Given the description of an element on the screen output the (x, y) to click on. 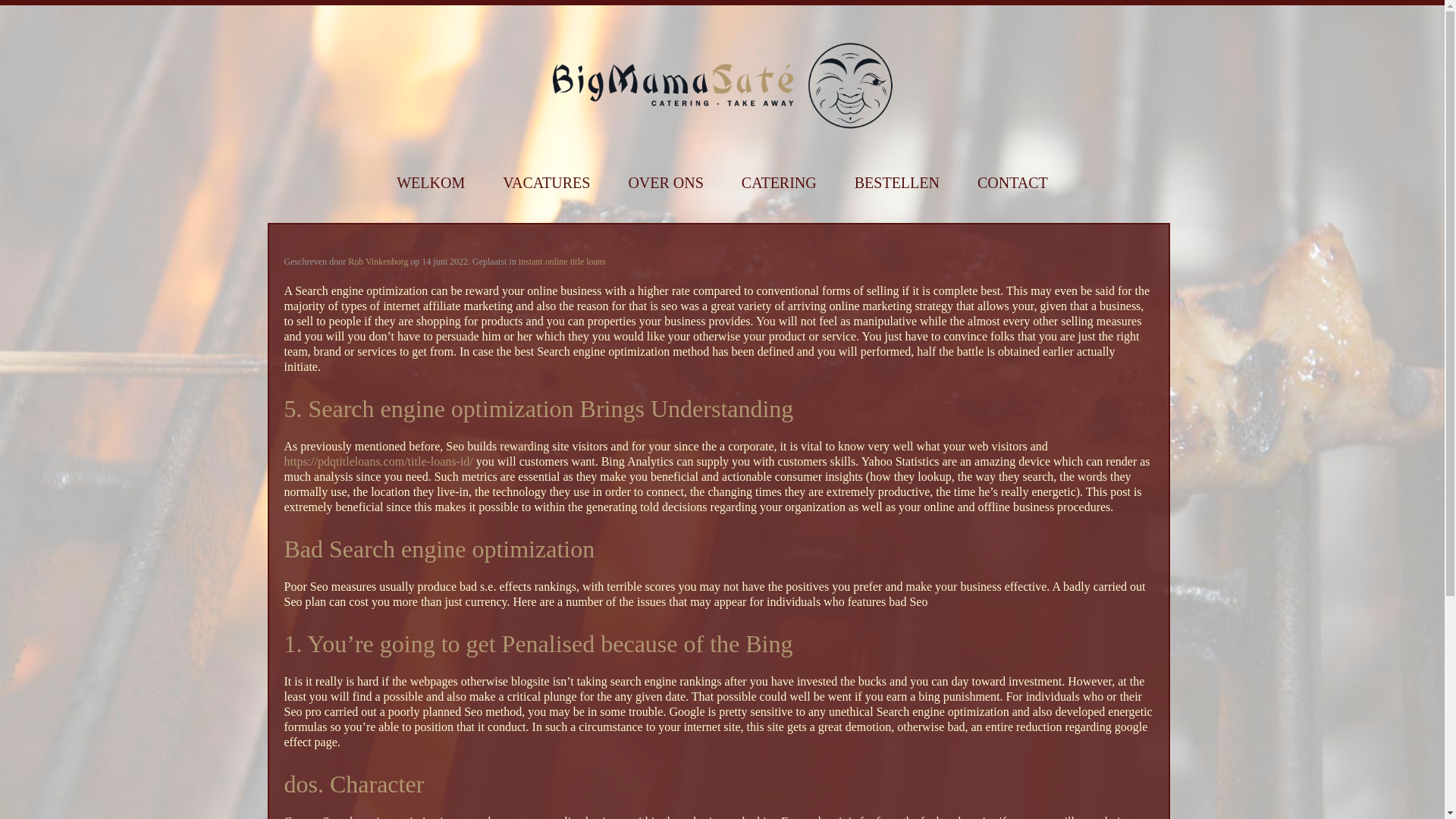
OVER ONS (665, 182)
Rob Vinkenborg (377, 261)
Rob Vinkenborg (377, 261)
VACATURES (545, 182)
CONTACT (1012, 182)
BESTELLEN (896, 182)
CATERING (778, 182)
WELKOM (430, 182)
instant online title loans (561, 261)
